Given the description of an element on the screen output the (x, y) to click on. 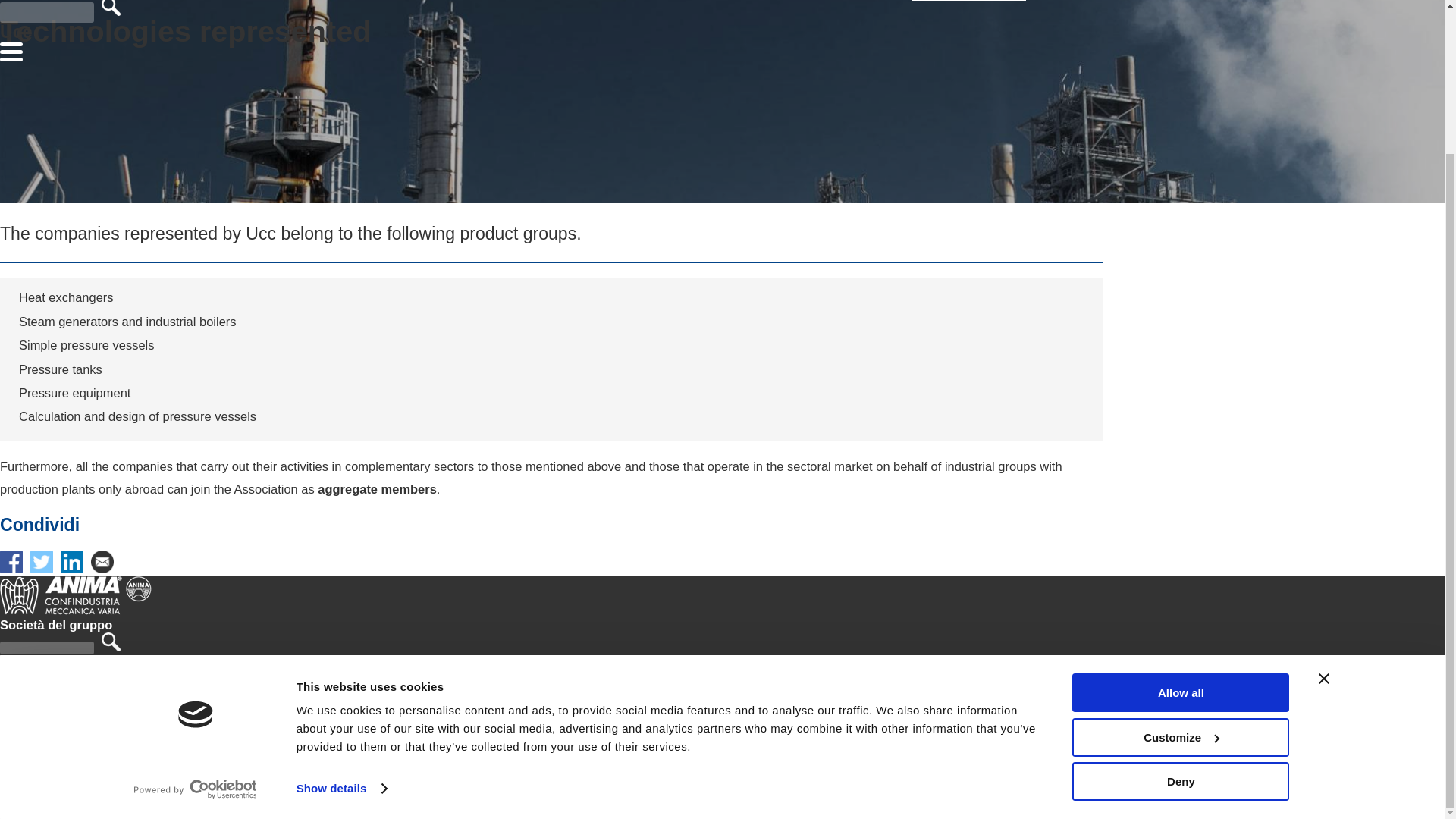
Customize (1179, 558)
Deny (1179, 602)
Show details (341, 609)
Allow all (1179, 514)
